Given the description of an element on the screen output the (x, y) to click on. 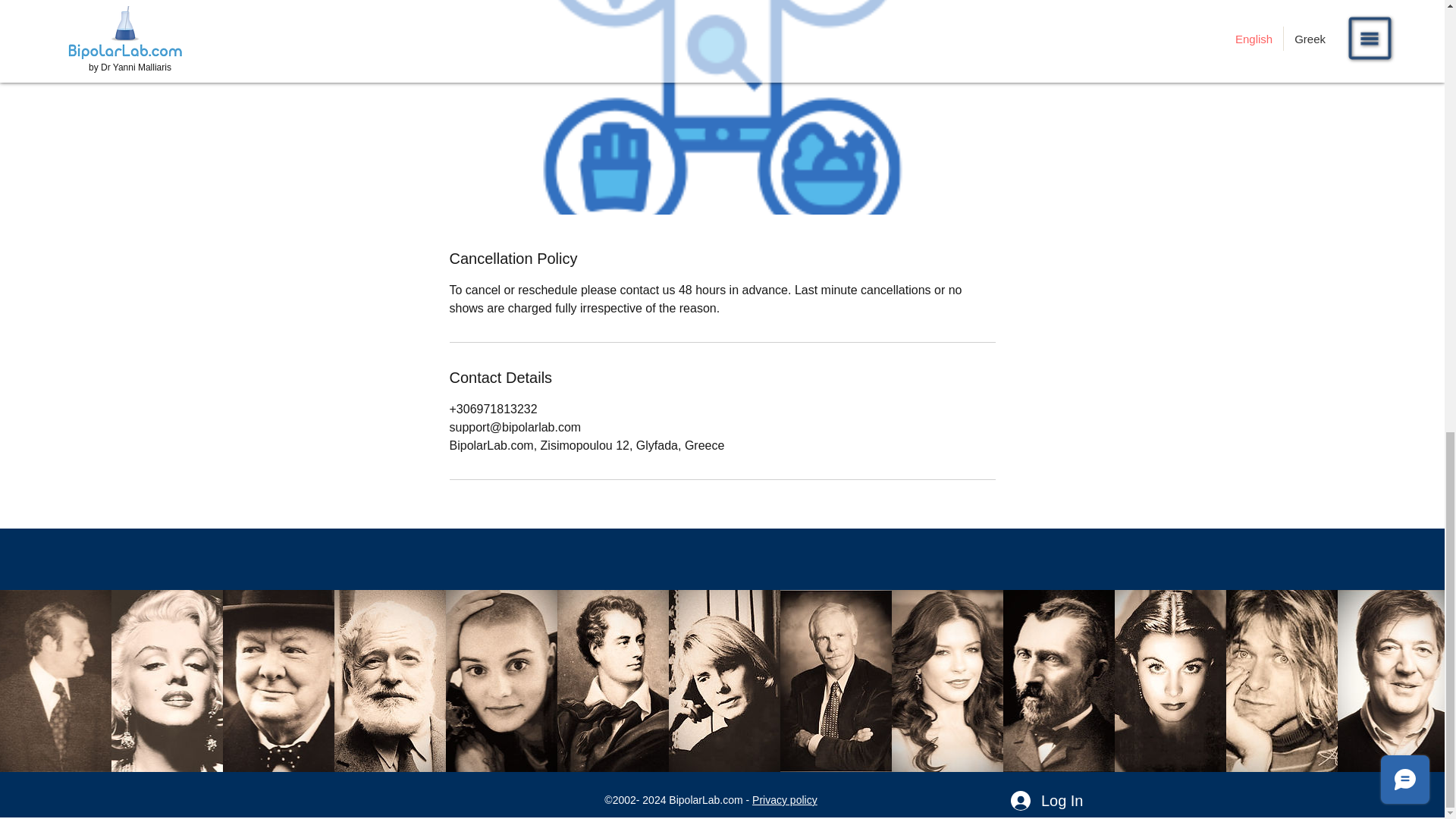
Privacy policy (784, 799)
